Given the description of an element on the screen output the (x, y) to click on. 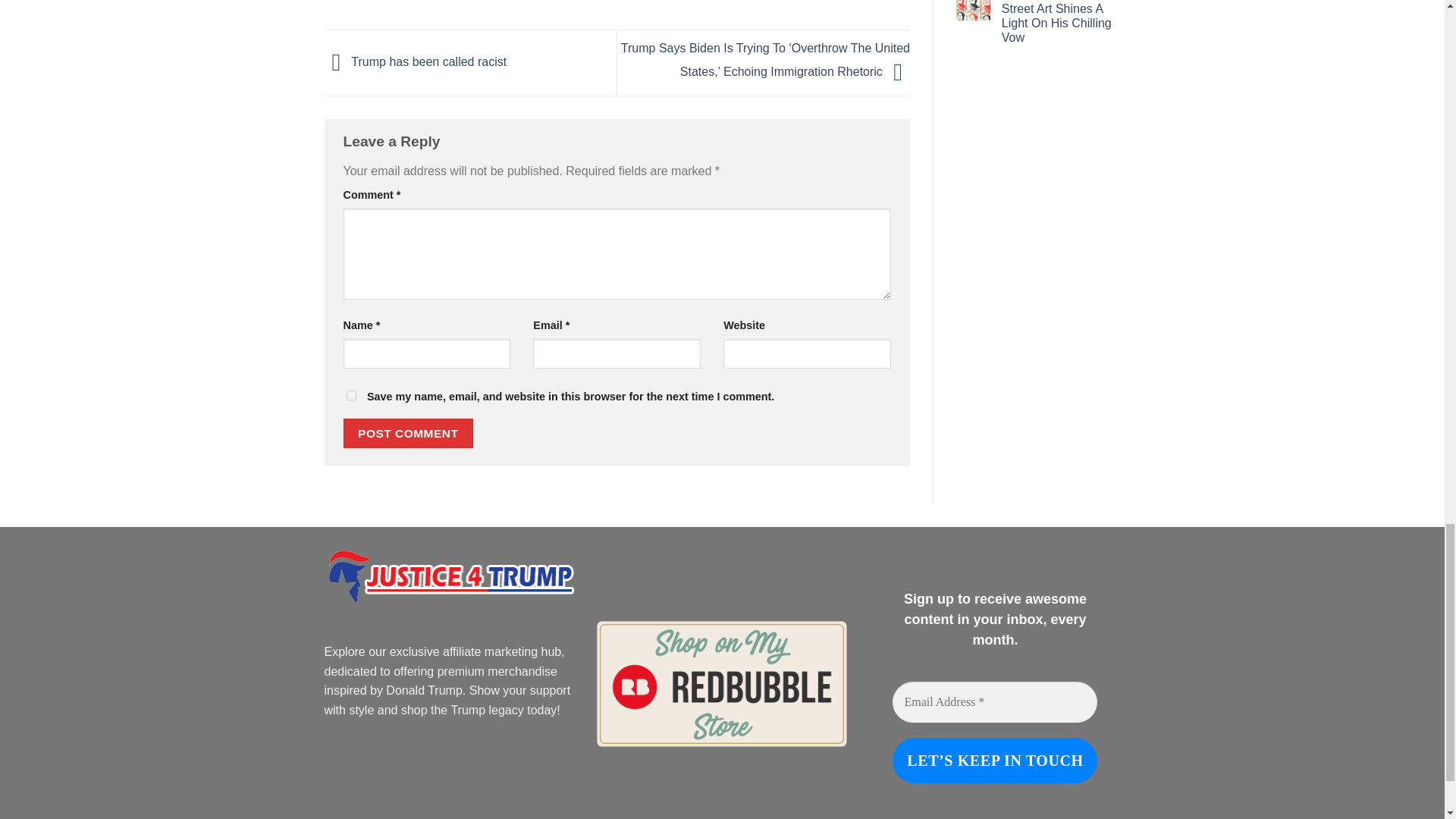
yes (350, 395)
Trump has been called racist (415, 61)
Post Comment (407, 432)
Post Comment (407, 432)
